Given the description of an element on the screen output the (x, y) to click on. 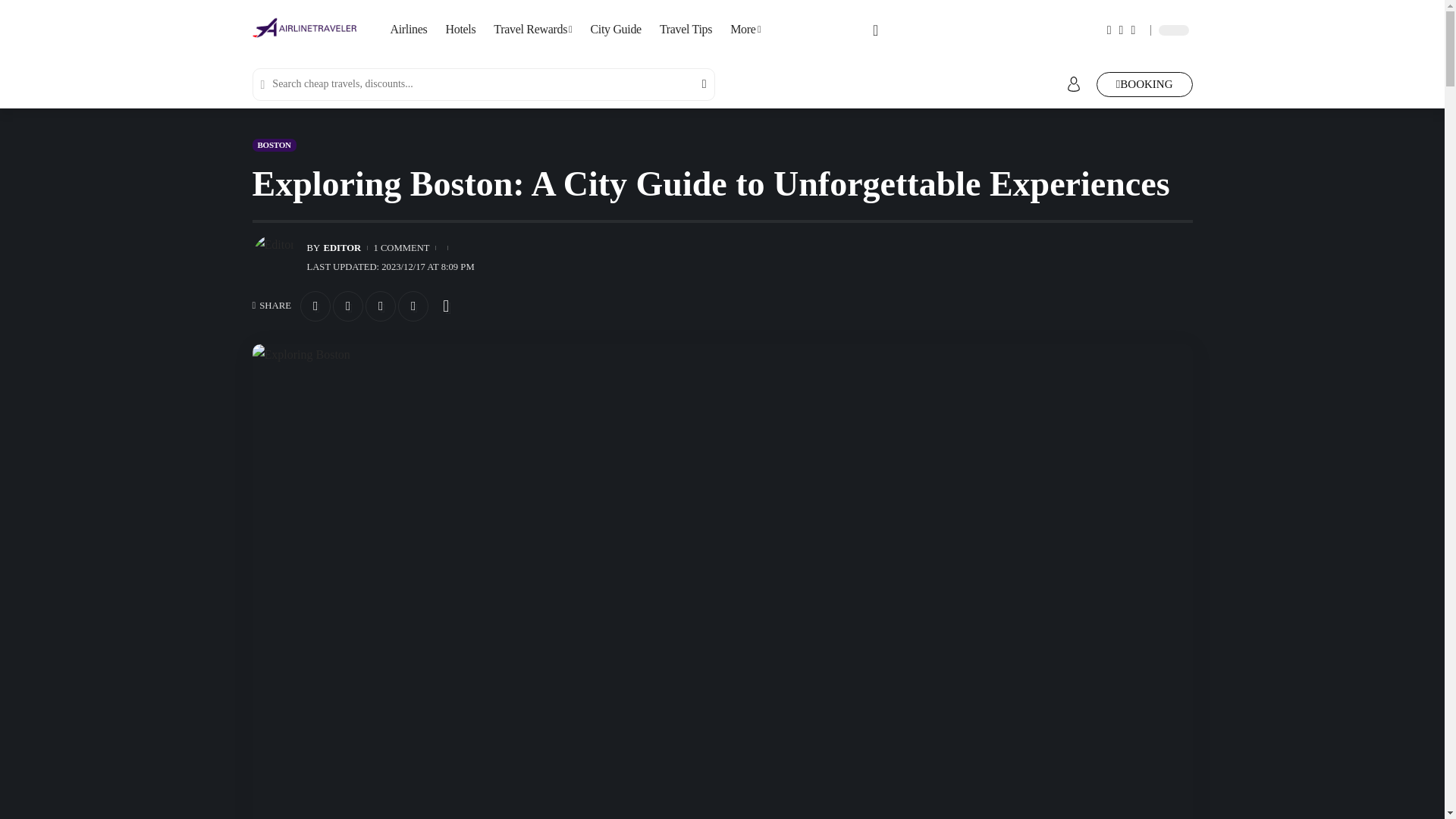
Travel Tips (685, 30)
Search (694, 83)
Travel Rewards (532, 30)
BOOKING (1144, 84)
Airlines (407, 30)
City Guide (614, 30)
More (745, 30)
Hotels (460, 30)
